Given the description of an element on the screen output the (x, y) to click on. 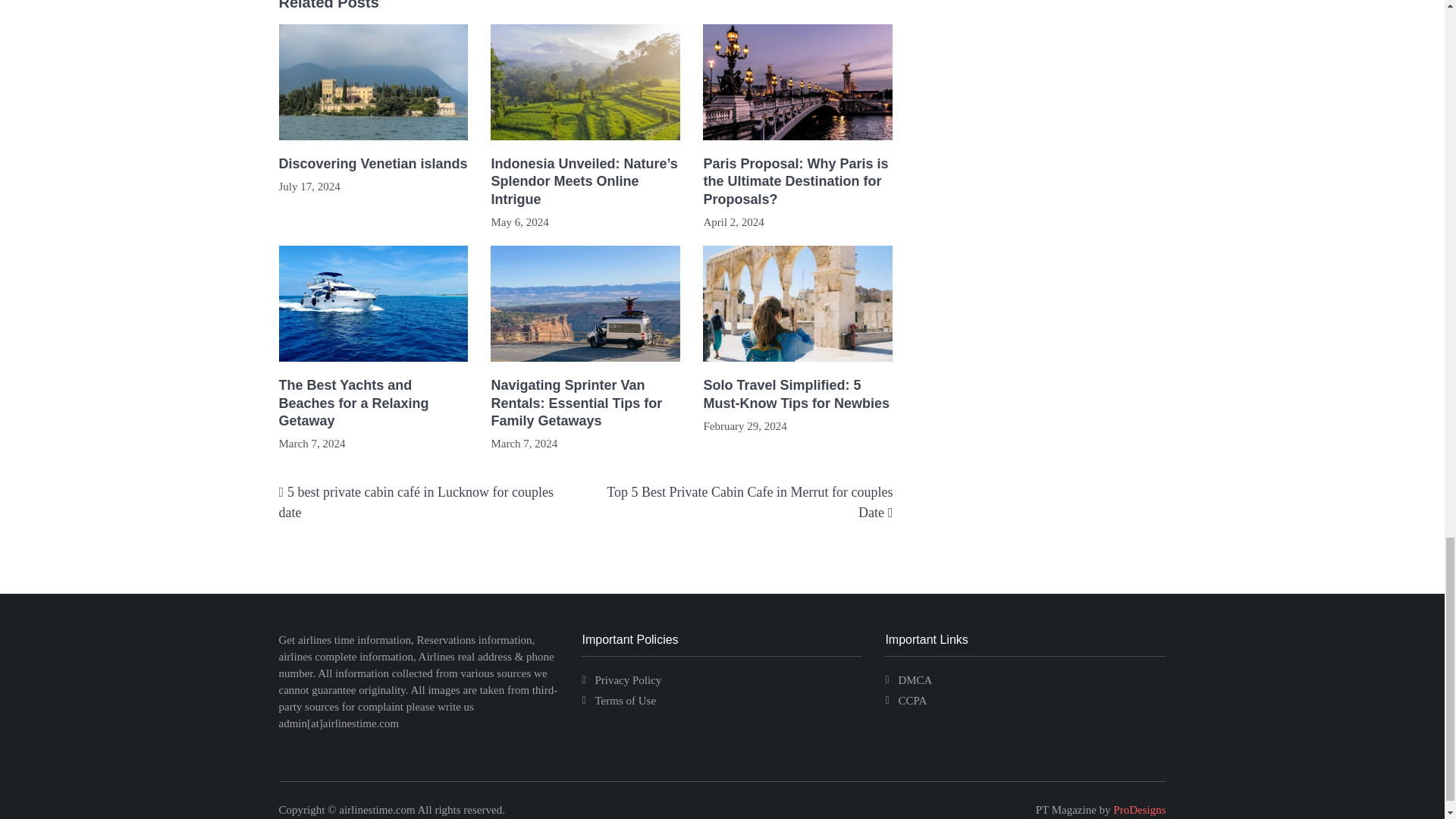
Solo Travel Simplified: 5 Must-Know Tips for Newbies (797, 394)
Top 5 Best Private Cabin Cafe in Merrut for couples Date (749, 502)
The Best Yachts and Beaches for a Relaxing Getaway (373, 402)
Discovering Venetian islands (373, 163)
